Given the description of an element on the screen output the (x, y) to click on. 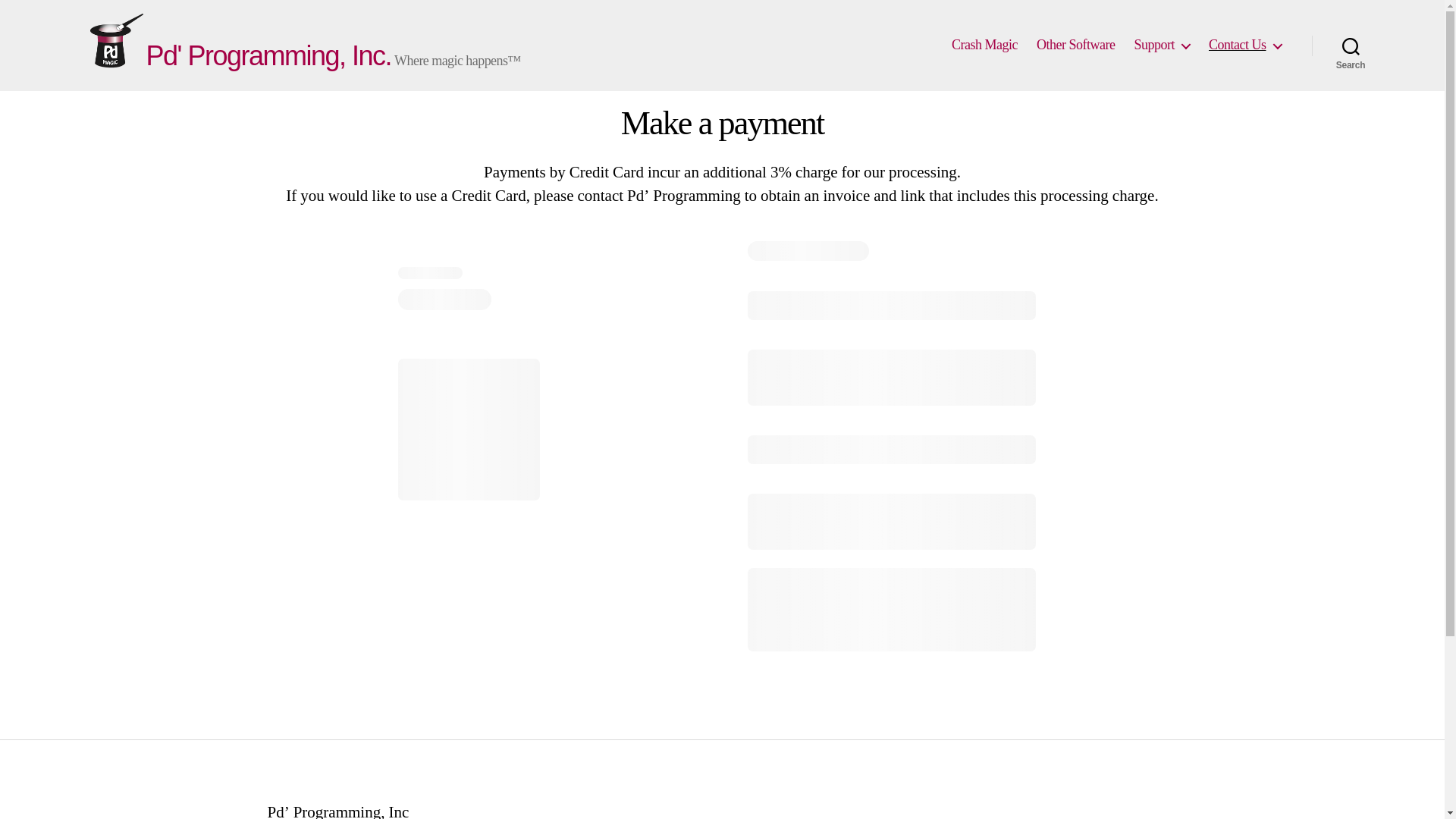
Support (1161, 45)
Contact Us (1244, 45)
Search (1350, 45)
Other Software (1075, 45)
Pd' Programming, Inc. (268, 55)
Crash Magic (984, 45)
